Given the description of an element on the screen output the (x, y) to click on. 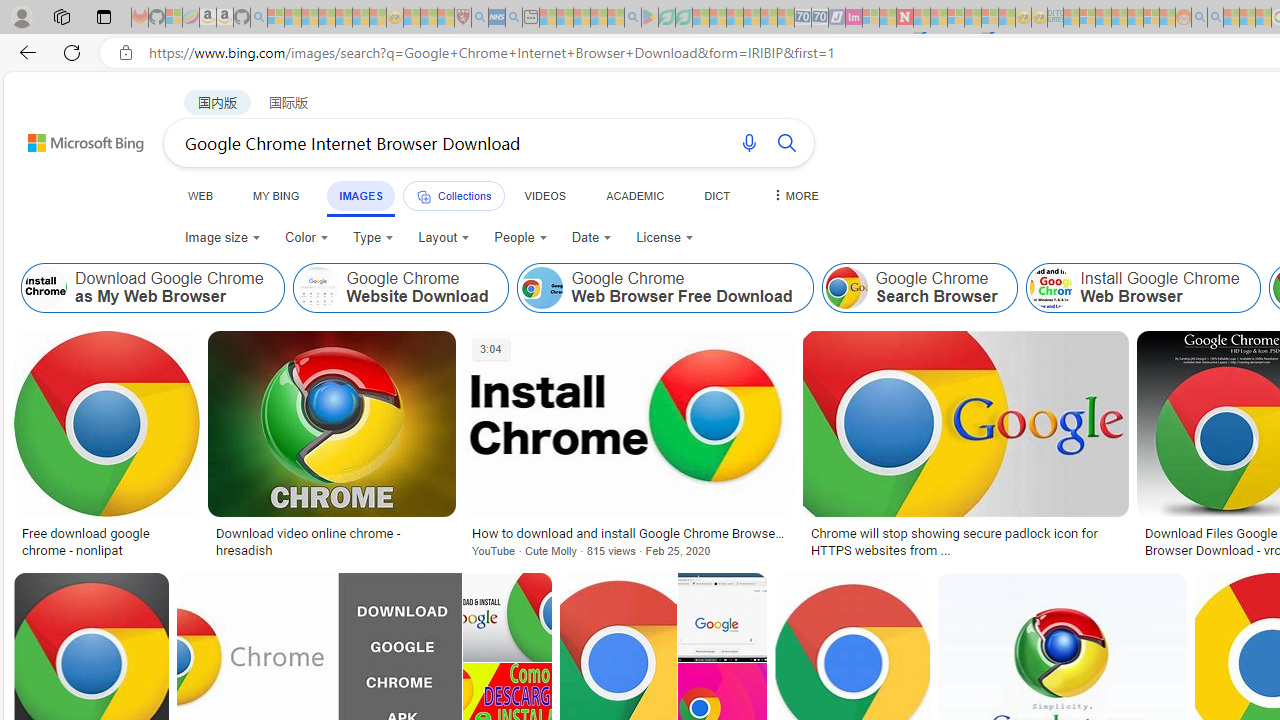
Pets - MSN - Sleeping (598, 17)
Type (373, 237)
Type (372, 237)
Cheap Car Rentals - Save70.com - Sleeping (802, 17)
Free download google chrome - nonlipat (106, 541)
Local - MSN - Sleeping (445, 17)
Bluey: Let's Play! - Apps on Google Play - Sleeping (649, 17)
New tab - Sleeping (530, 17)
Watch video (490, 348)
list of asthma inhalers uk - Search - Sleeping (479, 17)
Image size (222, 237)
